Given the description of an element on the screen output the (x, y) to click on. 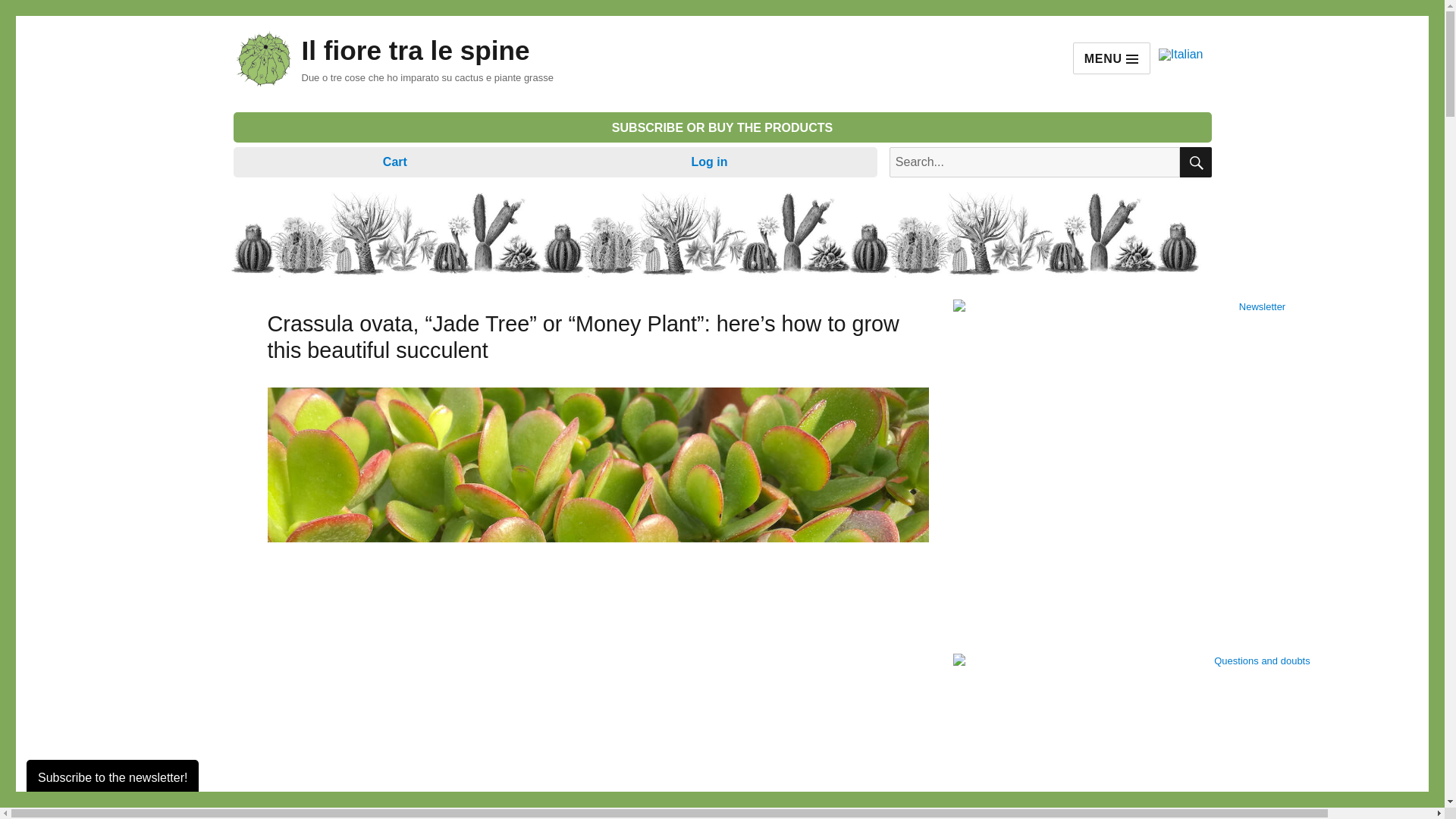
Cart (394, 161)
Search for: (1034, 162)
CERCA (1195, 162)
Il fiore tra le spine (415, 49)
MENU (1111, 58)
SUBSCRIBE OR BUY THE PRODUCTS (721, 128)
Log in (709, 161)
